Given the description of an element on the screen output the (x, y) to click on. 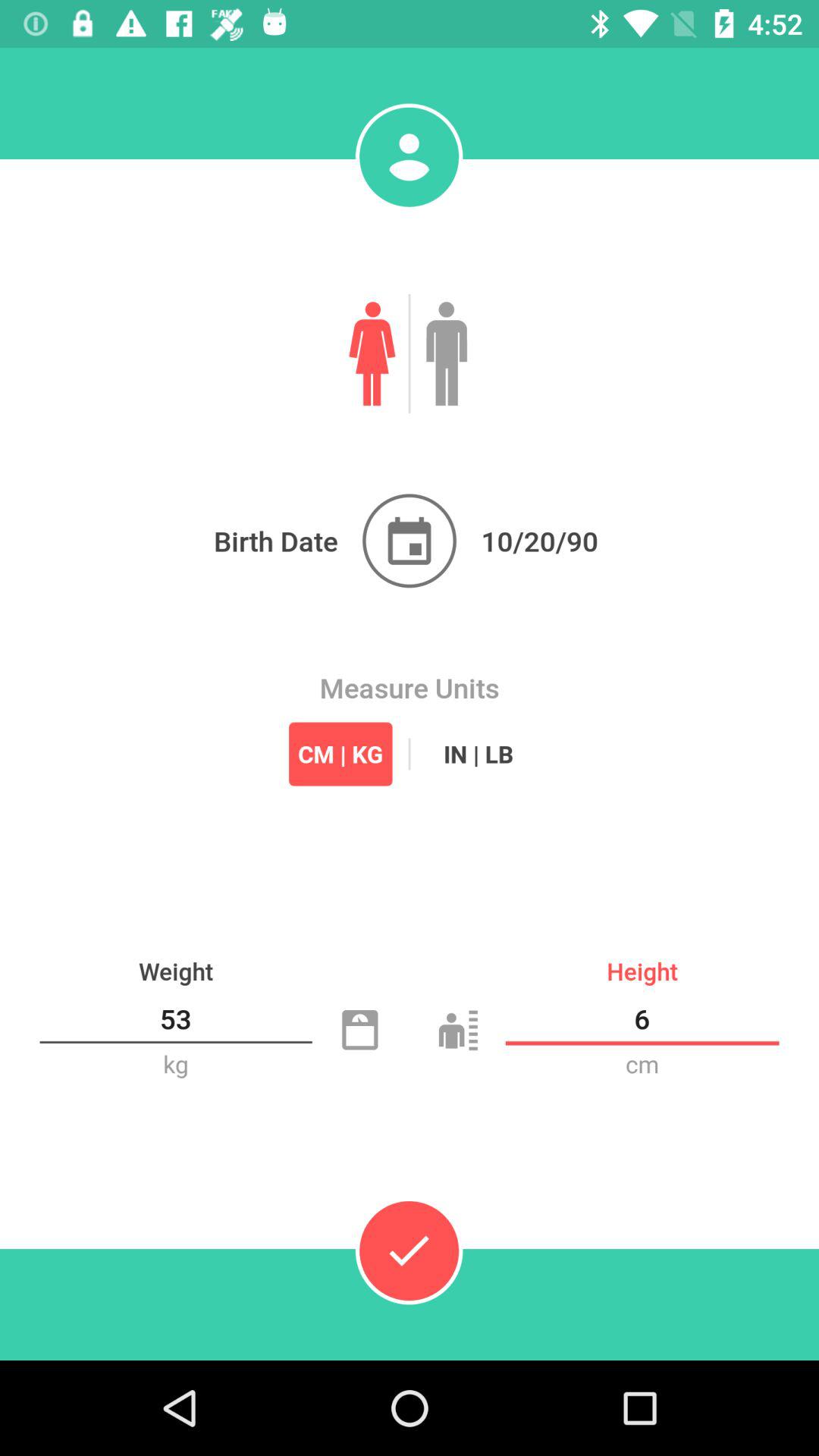
edit your profile (408, 157)
